Given the description of an element on the screen output the (x, y) to click on. 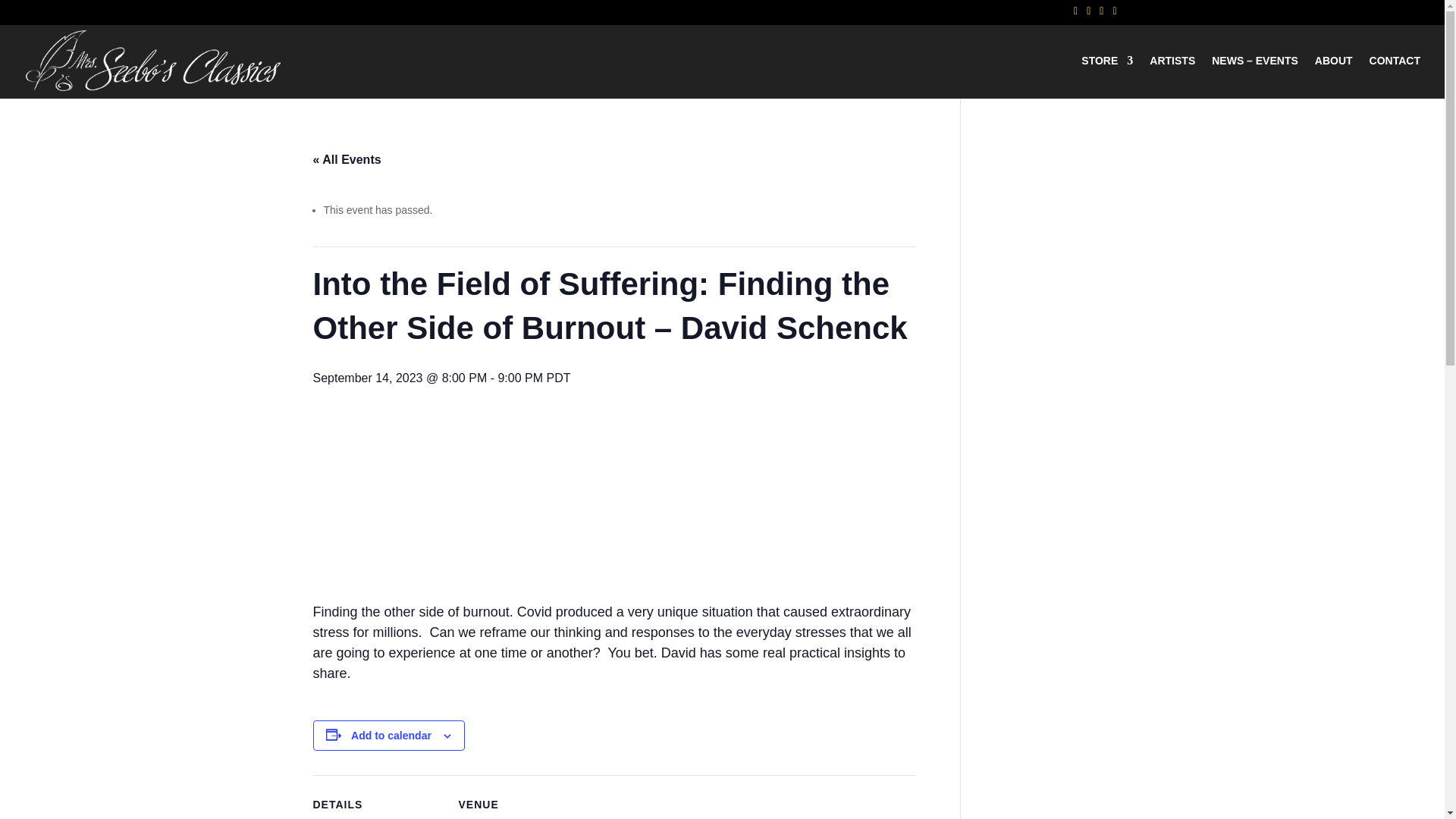
STORE (1106, 76)
CONTACT (1395, 76)
Add to calendar (390, 735)
ARTISTS (1172, 76)
